Given the description of an element on the screen output the (x, y) to click on. 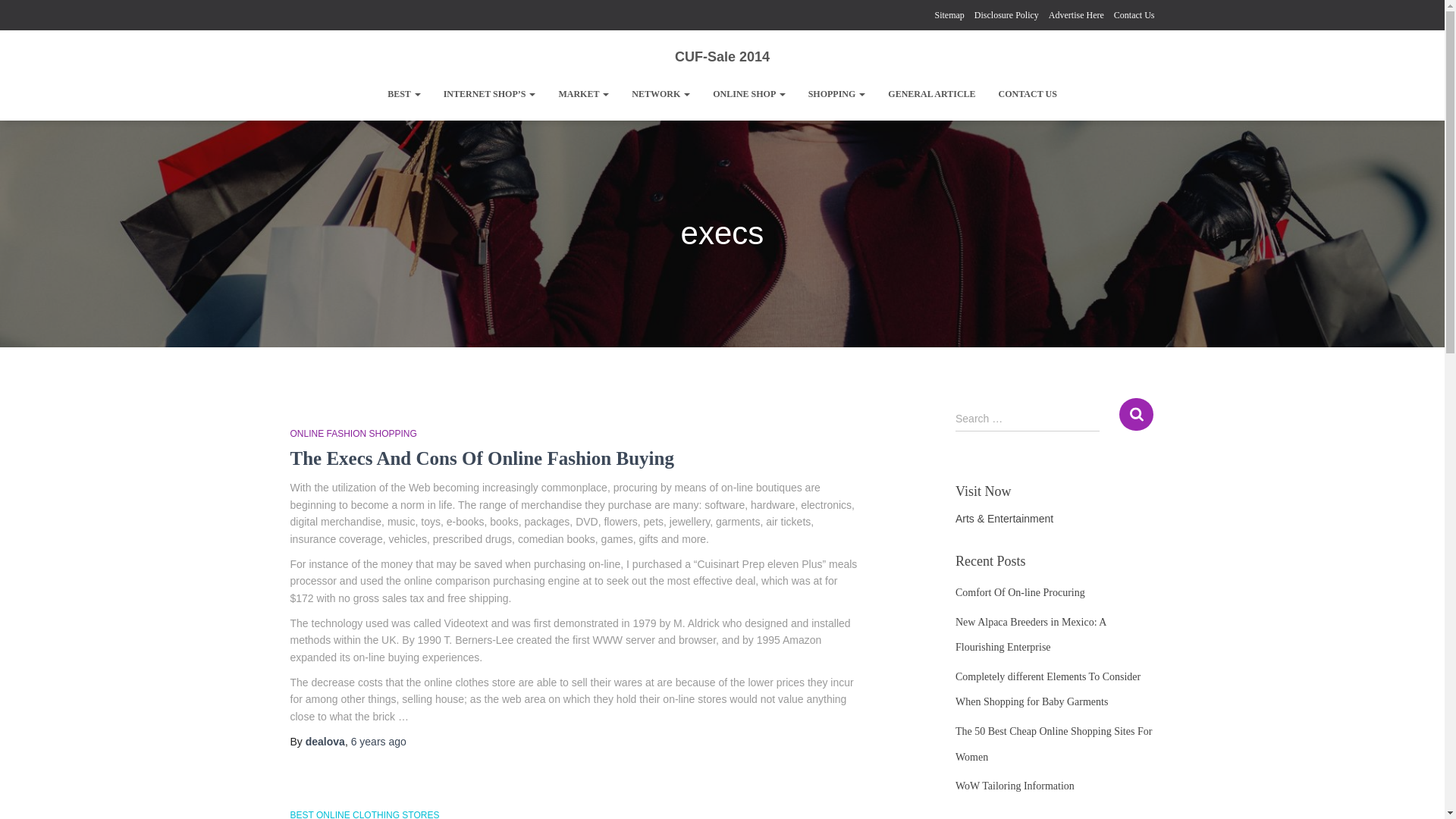
ONLINE FASHION SHOPPING (352, 433)
Sitemap (948, 15)
CUF-Sale 2014 (721, 56)
SHOPPING (836, 94)
Sitemap (948, 15)
Contact Us (1133, 15)
BEST (402, 94)
CUF-Sale 2014 (721, 56)
Search (1136, 414)
The Execs And Cons Of Online Fashion Buying (480, 457)
Best (402, 94)
Disclosure Policy (1006, 15)
6 years ago (378, 741)
Disclosure Policy (1006, 15)
Advertise Here (1075, 15)
